Given the description of an element on the screen output the (x, y) to click on. 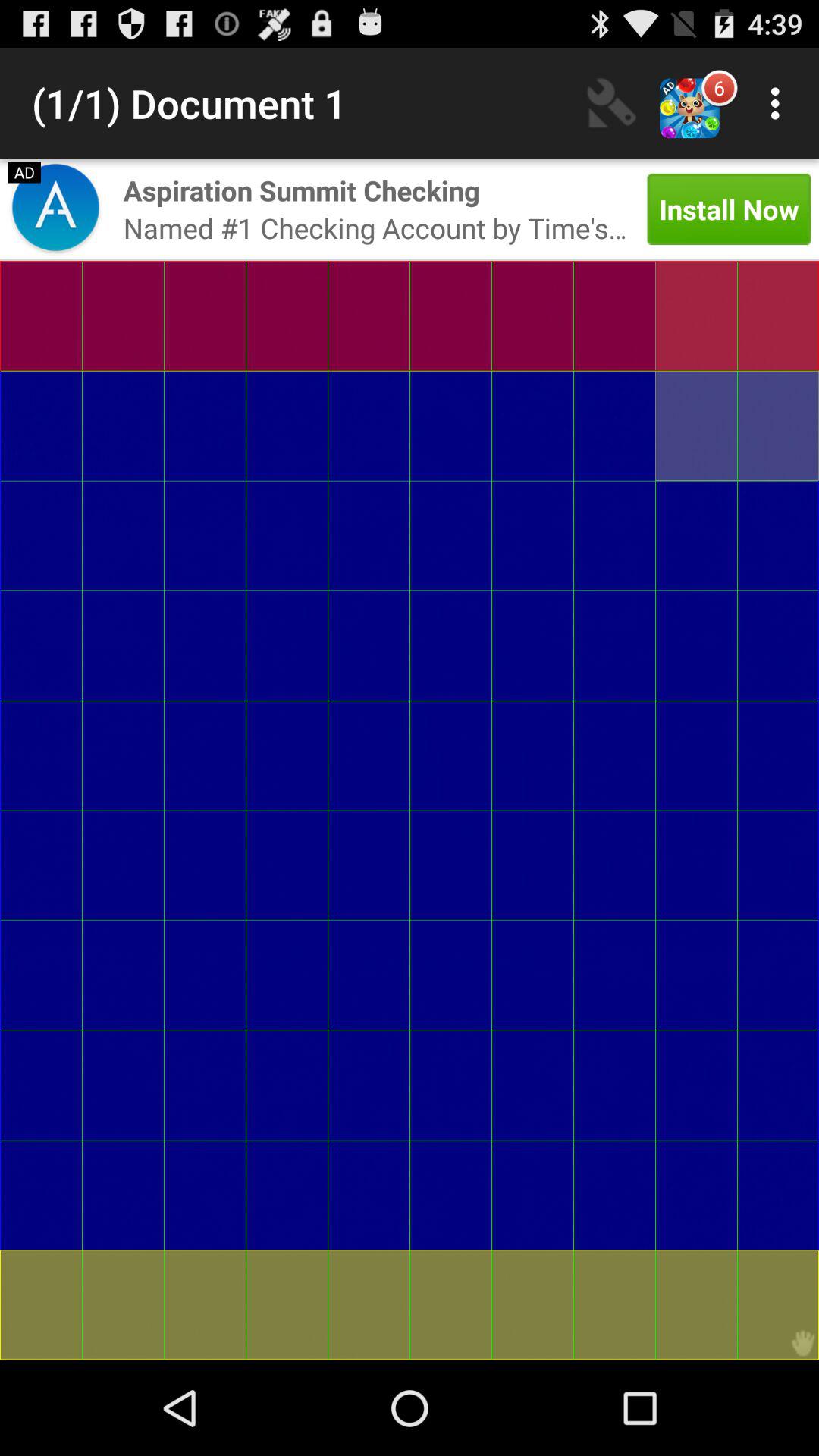
click icon next to the install now item (301, 190)
